Given the description of an element on the screen output the (x, y) to click on. 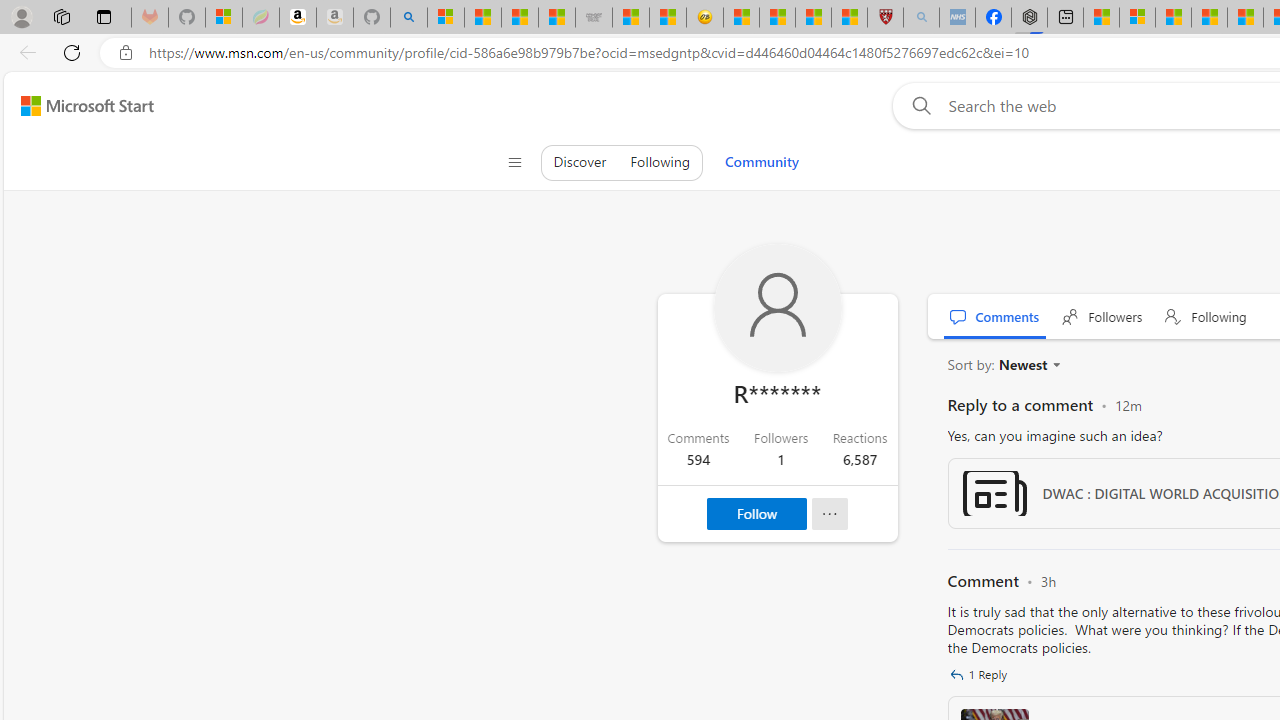
Report profile (829, 513)
Class: cwt-icon-vector (955, 674)
